Given the description of an element on the screen output the (x, y) to click on. 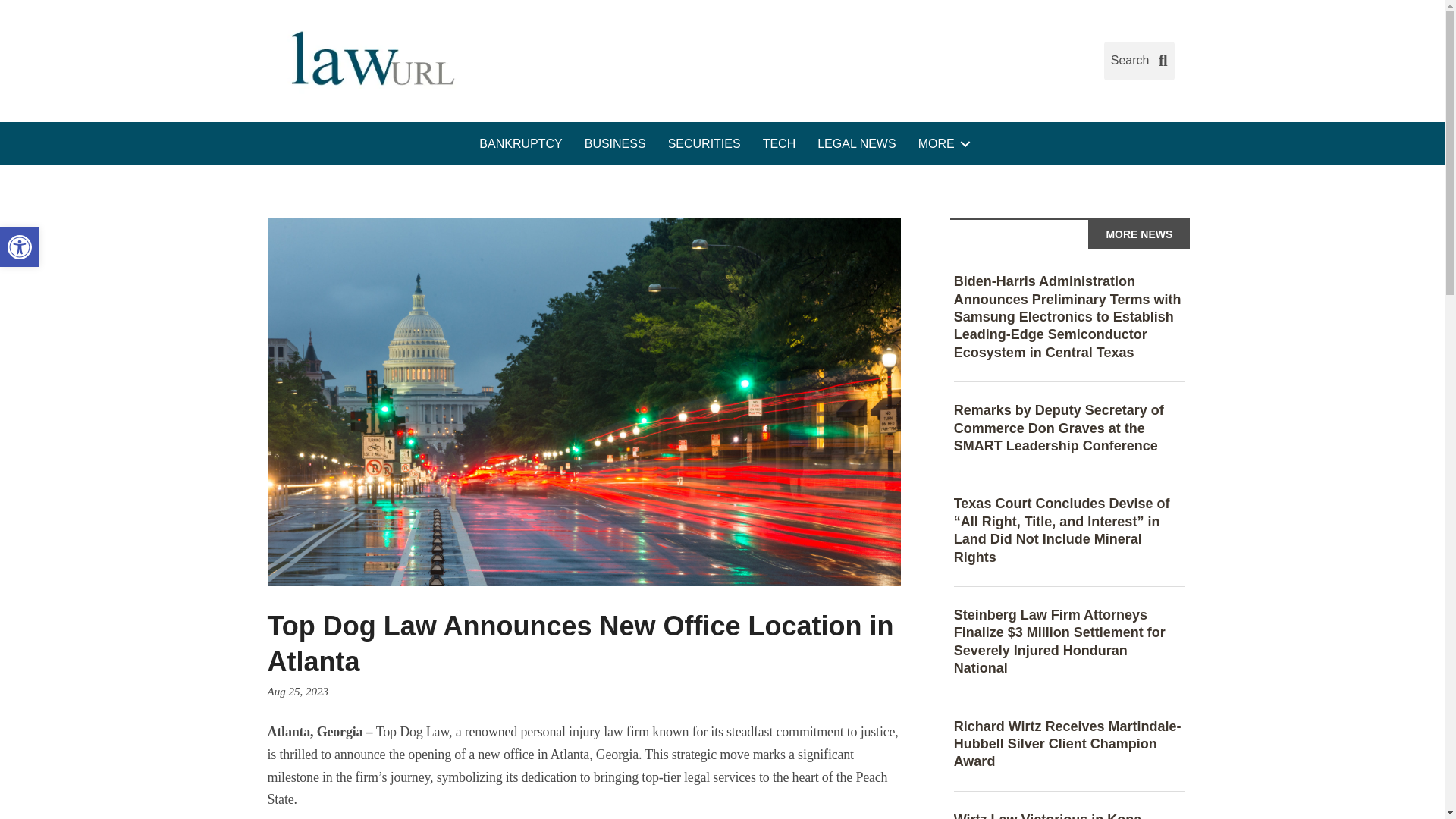
BANKRUPTCY (520, 143)
SECURITIES (704, 143)
TECH (779, 143)
MORE (941, 143)
Accessibility Tools (19, 247)
Search (1138, 60)
LEGAL NEWS (855, 143)
